Given the description of an element on the screen output the (x, y) to click on. 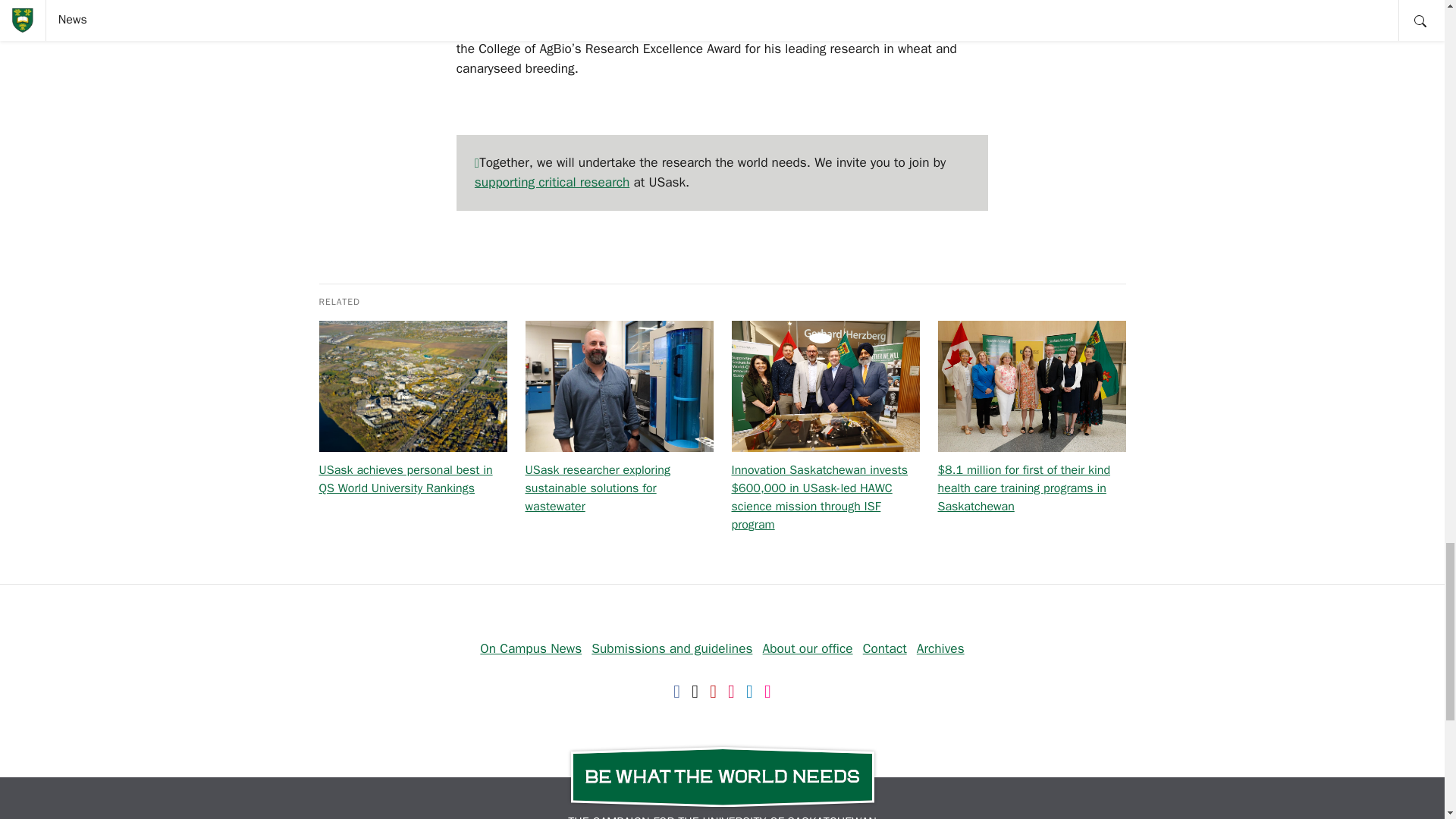
About our office (807, 647)
On Campus News (530, 647)
USask achieves personal best in QS World University Rankings (405, 479)
Submissions and guidelines (671, 647)
supporting critical research (551, 181)
Archives (940, 647)
Contact (885, 647)
